Given the description of an element on the screen output the (x, y) to click on. 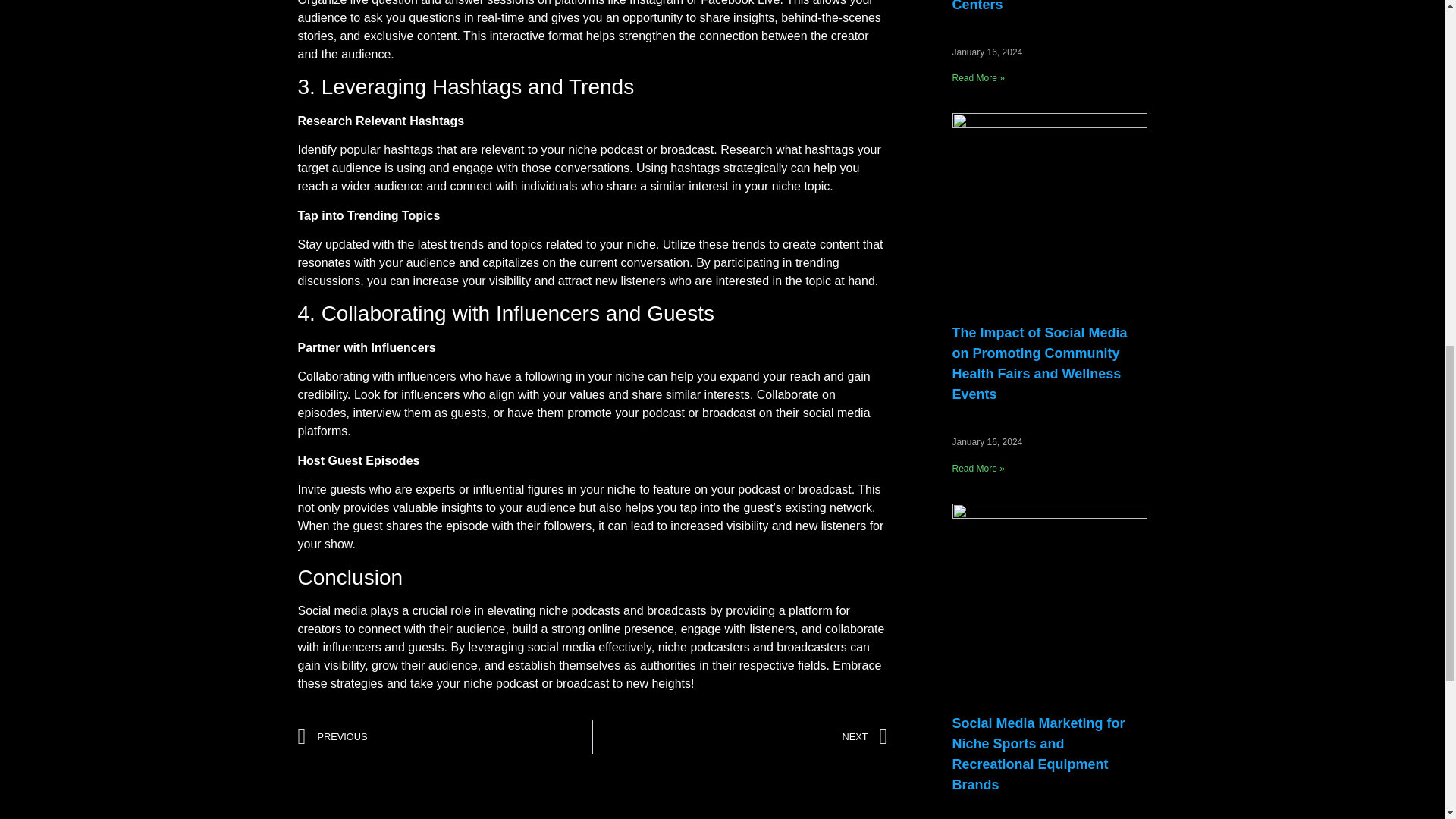
NEXT (740, 736)
PREVIOUS (444, 736)
